Given the description of an element on the screen output the (x, y) to click on. 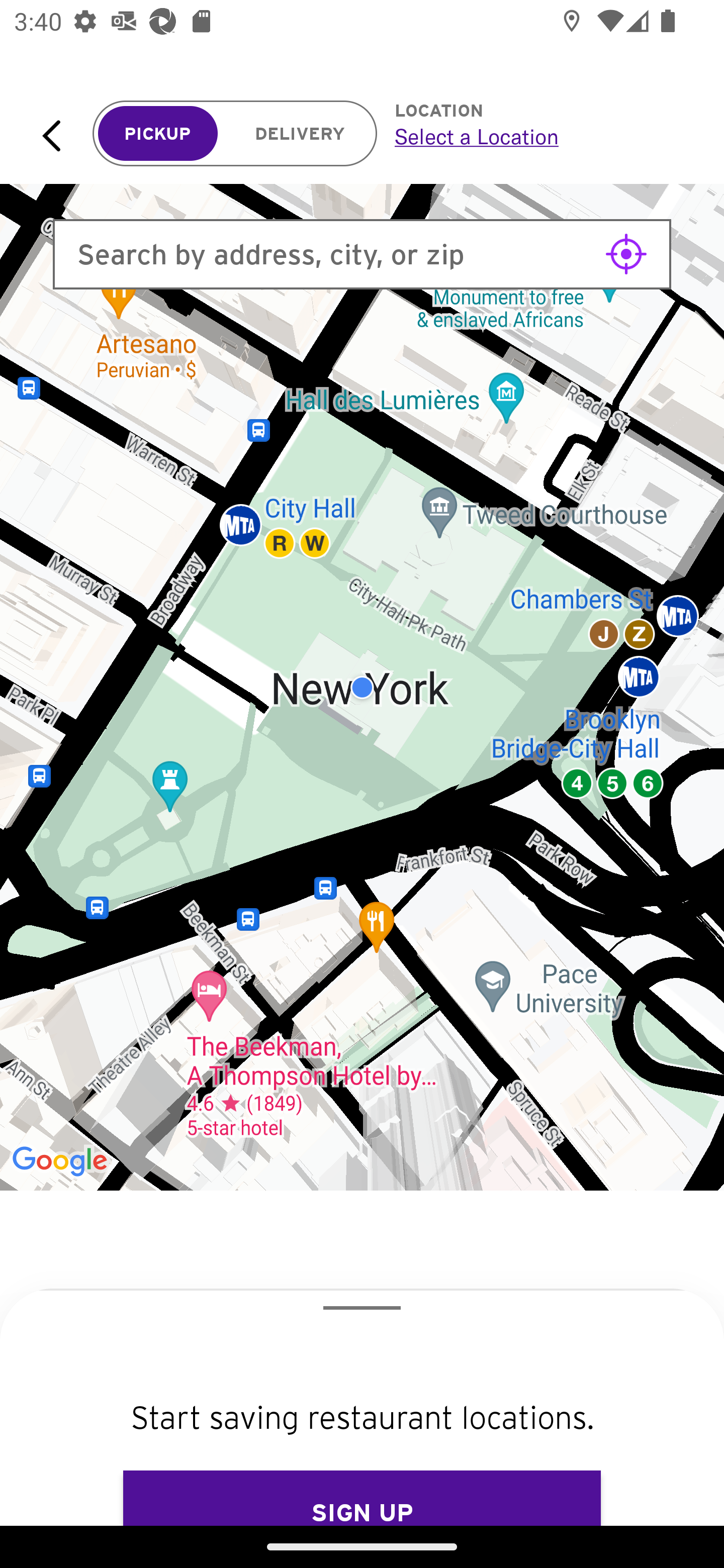
PICKUP (157, 133)
DELIVERY (299, 133)
Select a Location (536, 136)
Search by address, city, or zip (361, 254)
SIGN UP (361, 1497)
